Given the description of an element on the screen output the (x, y) to click on. 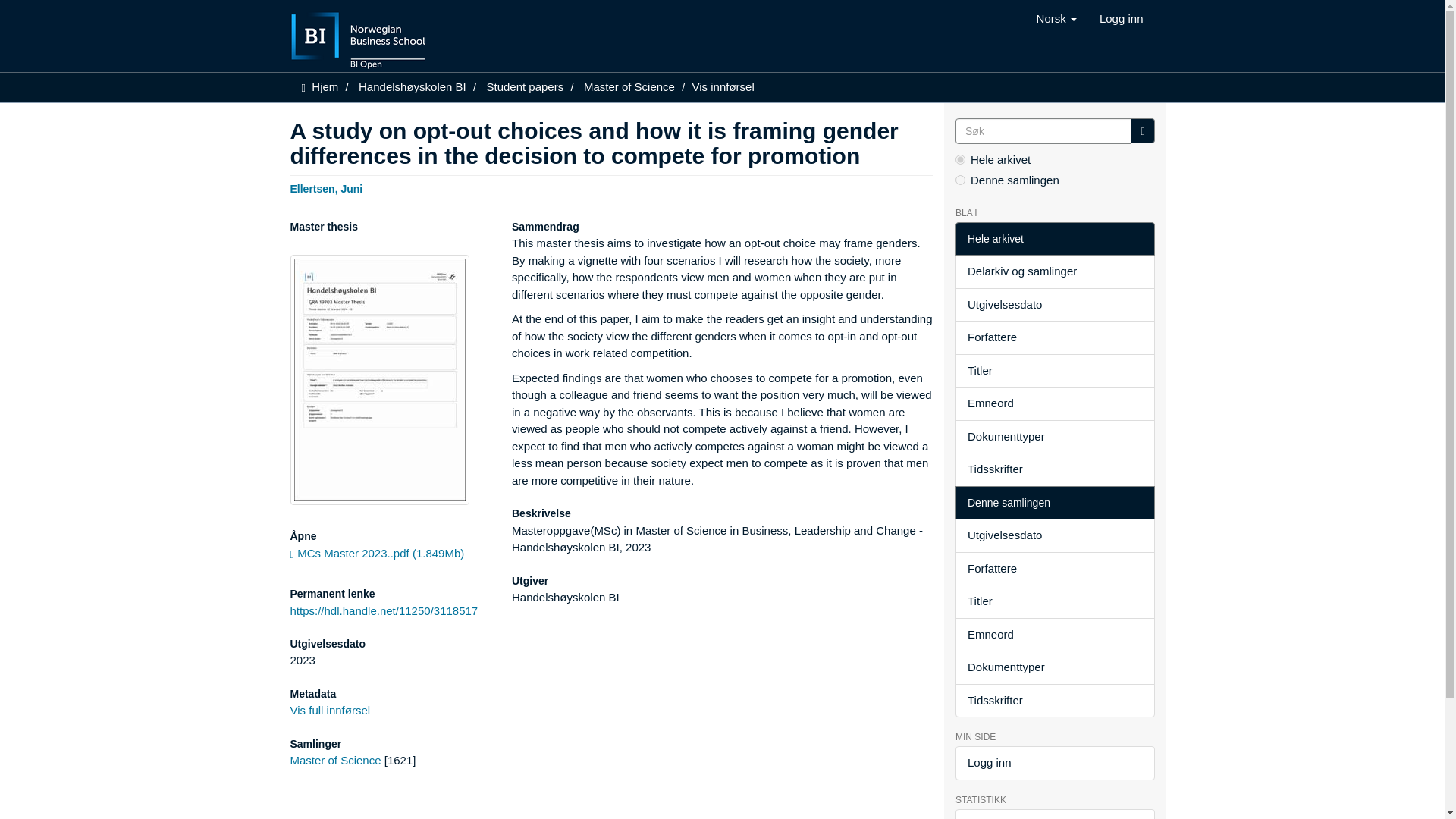
Master of Science (629, 86)
Ellertsen, Juni (325, 187)
Master of Science (334, 759)
Delarkiv og samlinger (1054, 271)
Logg inn (1120, 18)
Forfattere (1054, 337)
Utgivelsesdato (1054, 305)
Hjem (324, 86)
Norsk  (1056, 18)
Hele arkivet (1054, 238)
Emneord (1054, 403)
Student papers (524, 86)
Titler (1054, 370)
